Given the description of an element on the screen output the (x, y) to click on. 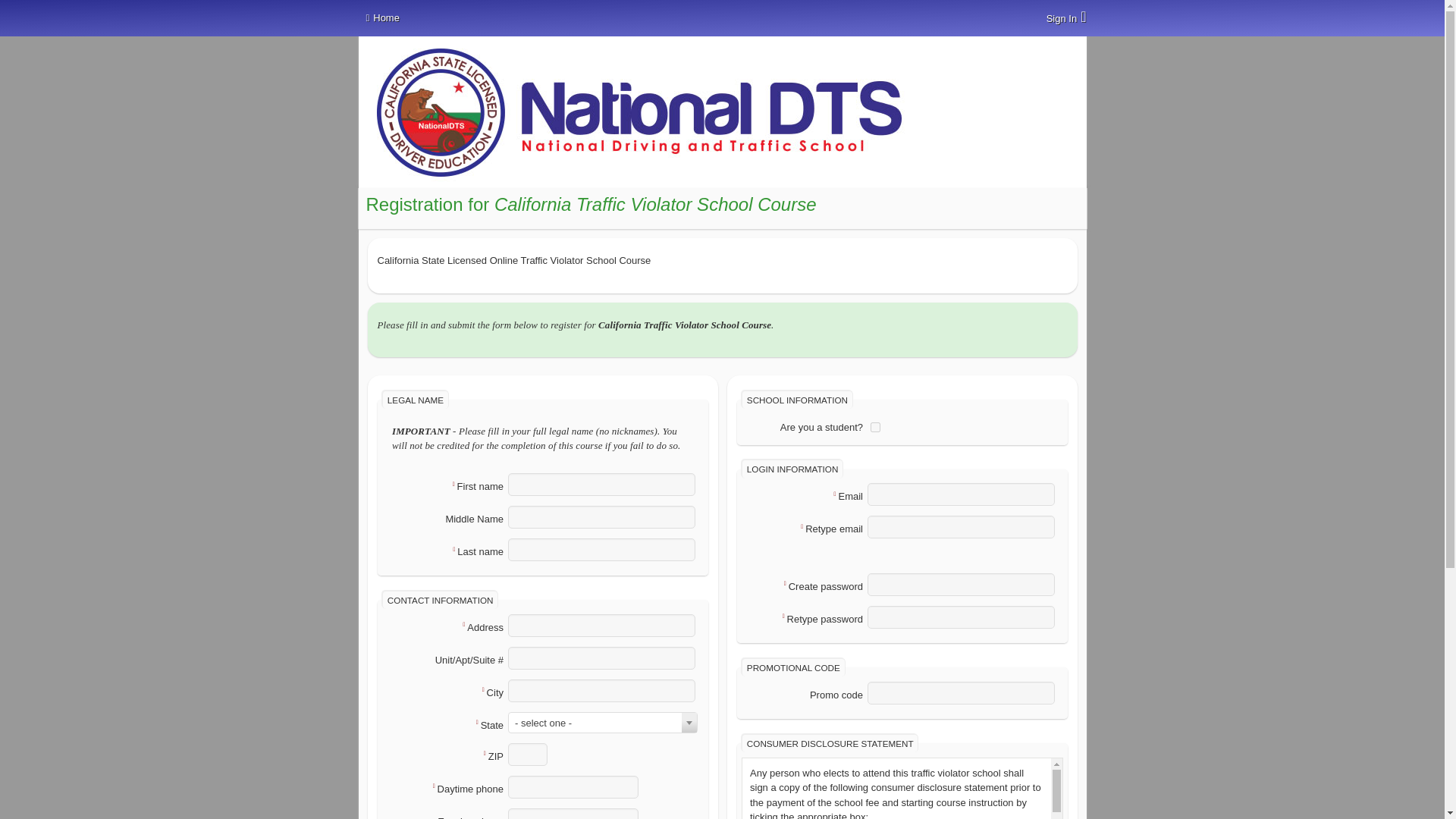
Enter phone number (573, 786)
Enter your first name (601, 484)
Sign In (1066, 16)
Enter your last name (601, 549)
 - select one - (602, 722)
Select a state (602, 722)
Enter your middle name (601, 517)
Enter city name (601, 690)
1 (875, 427)
Enter a valid ZIP code (527, 753)
Home (378, 17)
Enter your address (601, 625)
Enter phone number or leave blank (573, 813)
